Given the description of an element on the screen output the (x, y) to click on. 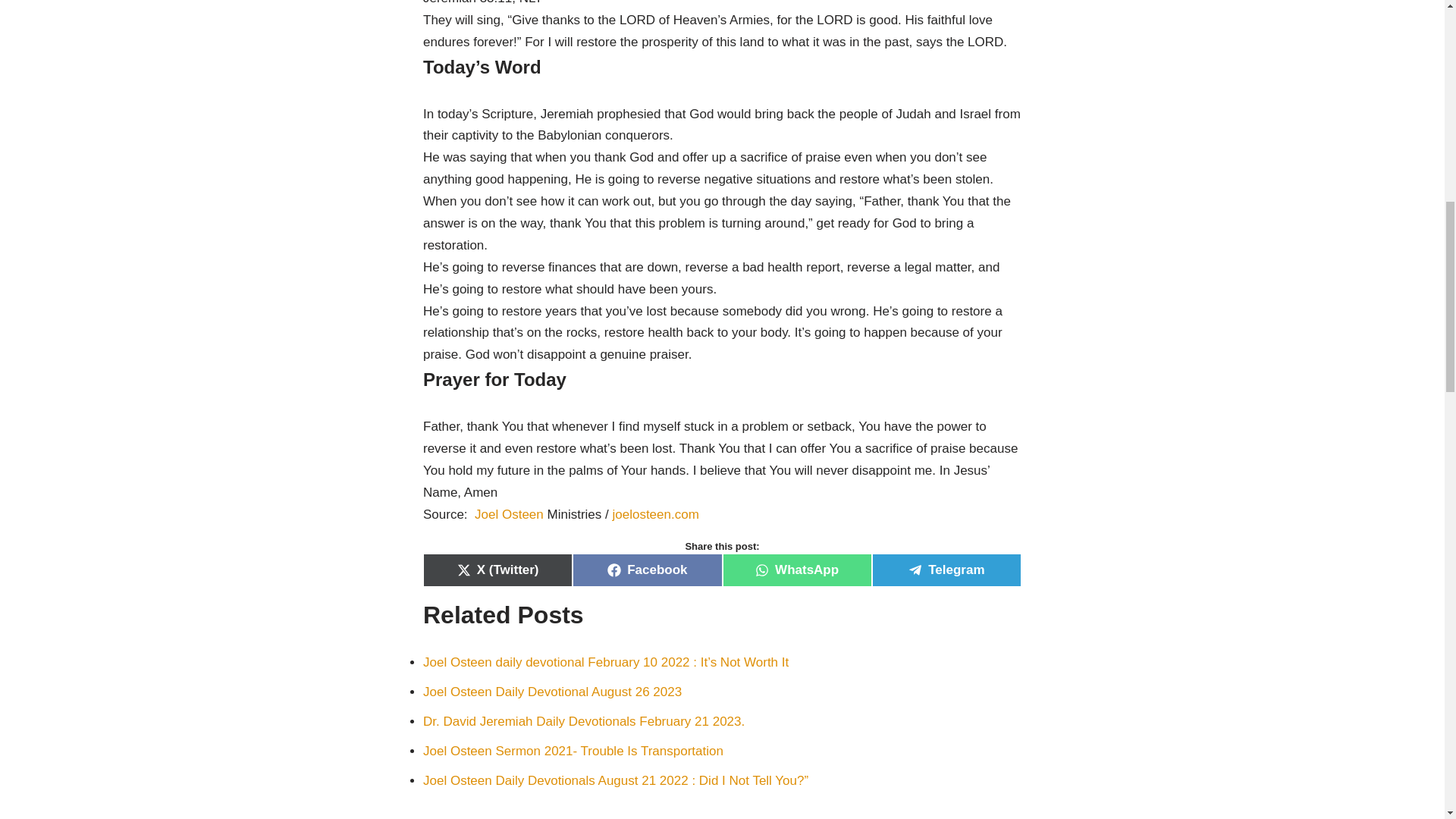
Joel Osteen Sermon 2021- Trouble Is Transportation (573, 750)
Facebook (647, 570)
Telegram (947, 570)
Joel Osteen Daily Devotional August 26 2023 (552, 691)
Joel Osteen (508, 513)
WhatsApp (796, 570)
joelosteen.com (654, 513)
Dr. David Jeremiah Daily Devotionals February 21 2023. (583, 721)
